Given the description of an element on the screen output the (x, y) to click on. 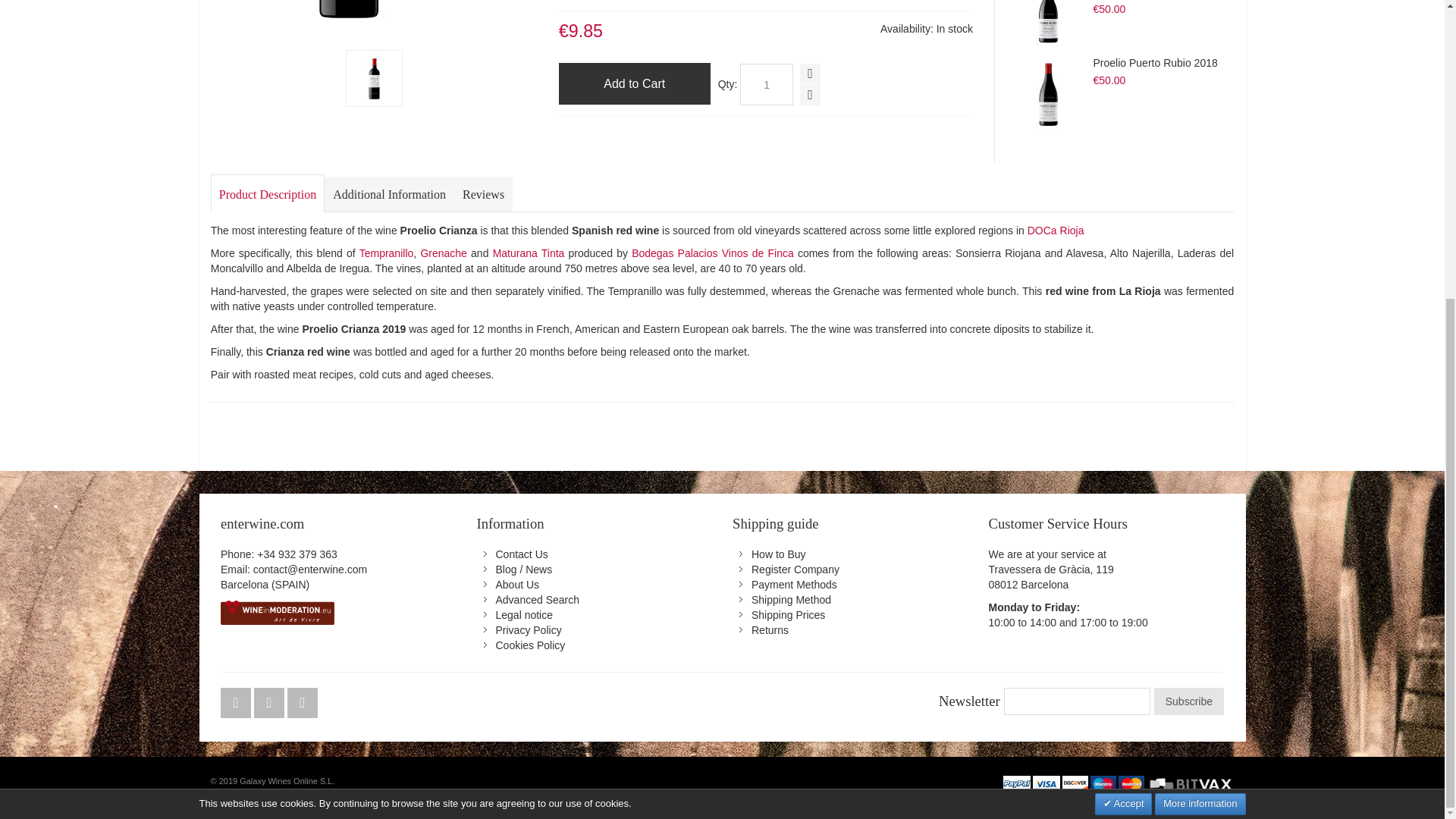
red wine proelio crianza 2019 (374, 78)
vino proelio crianza 2018 (374, 61)
vino proelio crianza 2018 (348, 20)
1 (766, 84)
